Given the description of an element on the screen output the (x, y) to click on. 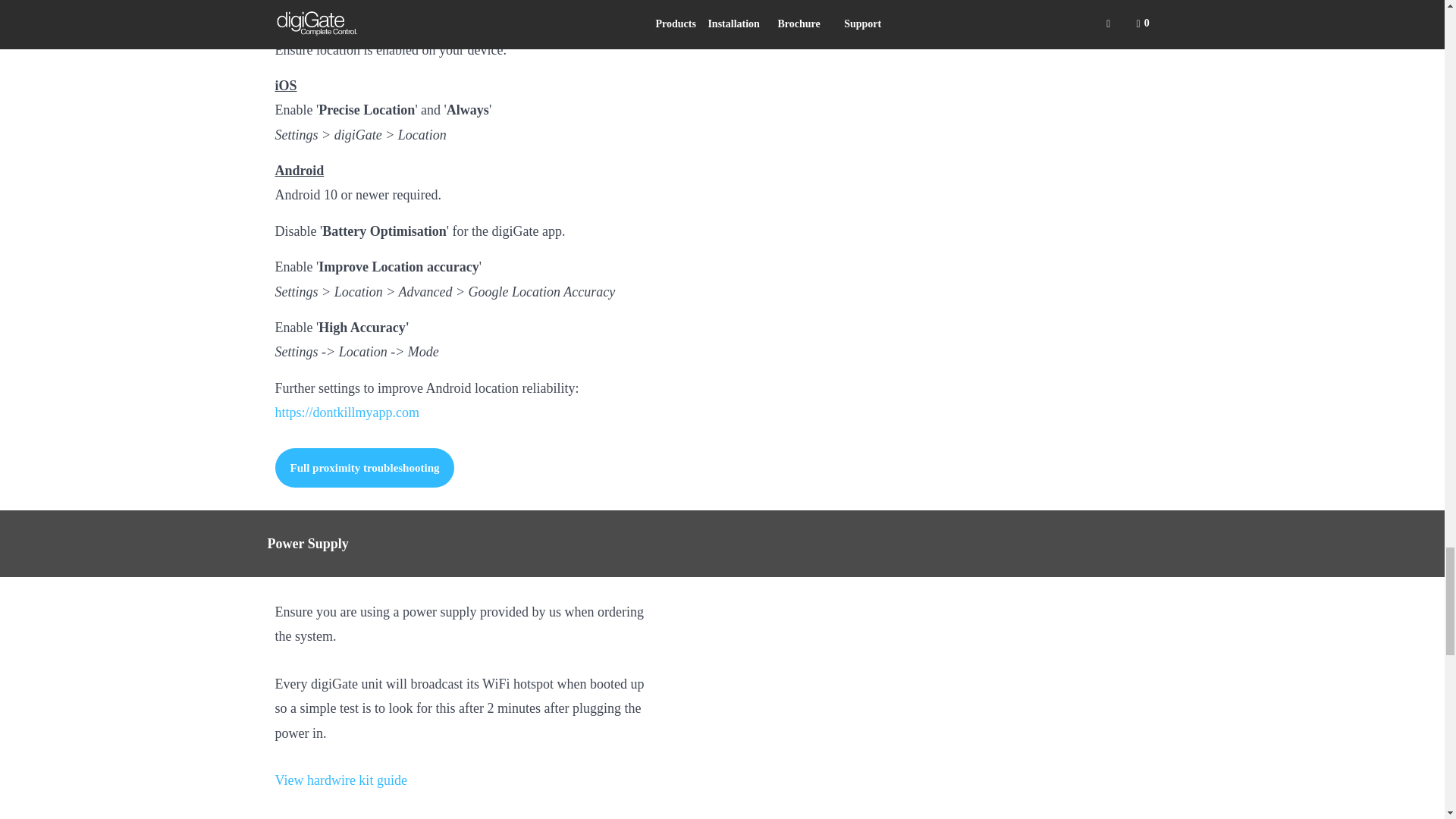
Full proximity troubleshooting (364, 467)
View hardwire kit guide (340, 780)
Hardwire Kit Guide (340, 780)
